Given the description of an element on the screen output the (x, y) to click on. 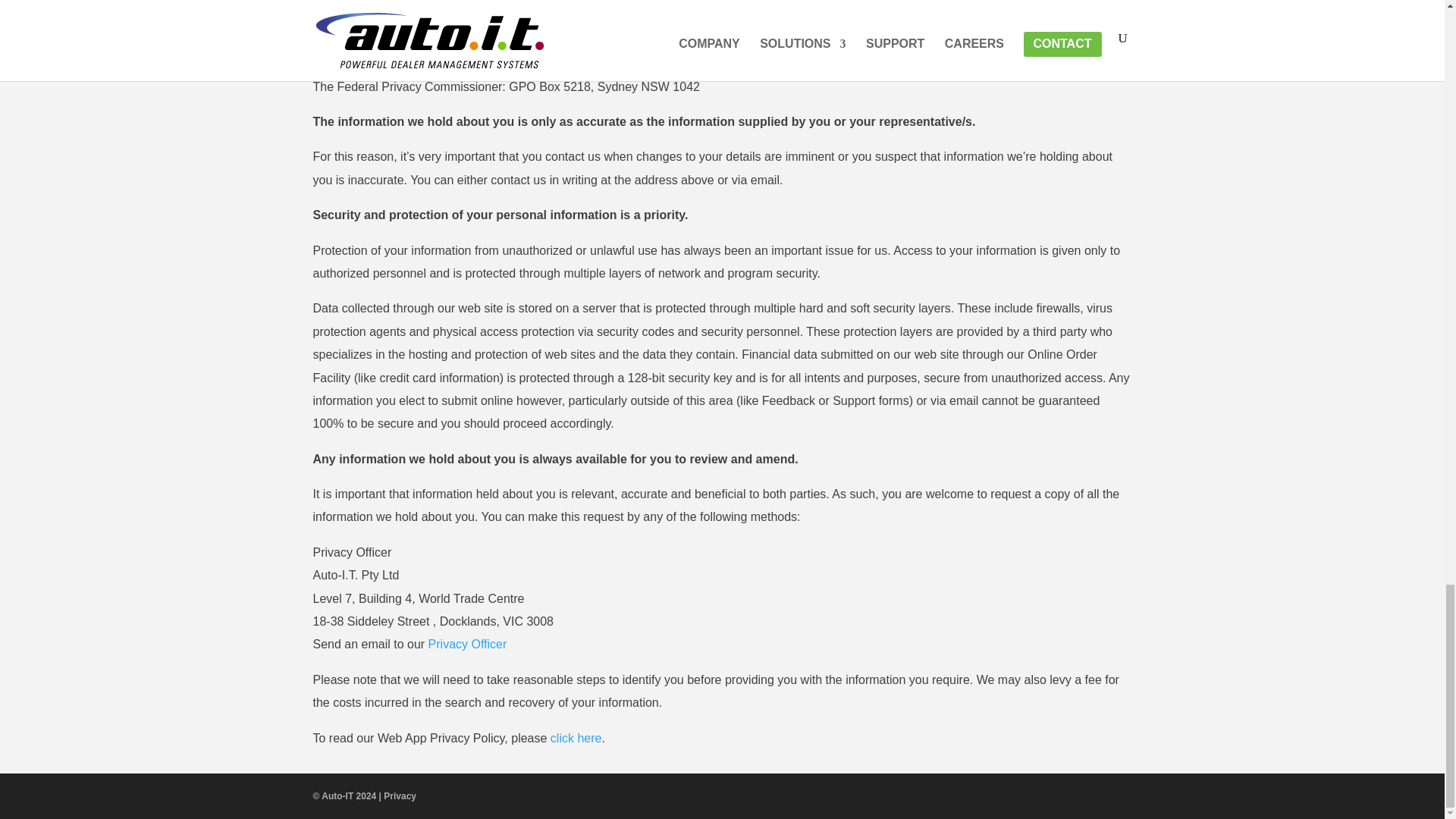
Privacy Officer (467, 644)
click here (576, 738)
Privacy (400, 796)
